Given the description of an element on the screen output the (x, y) to click on. 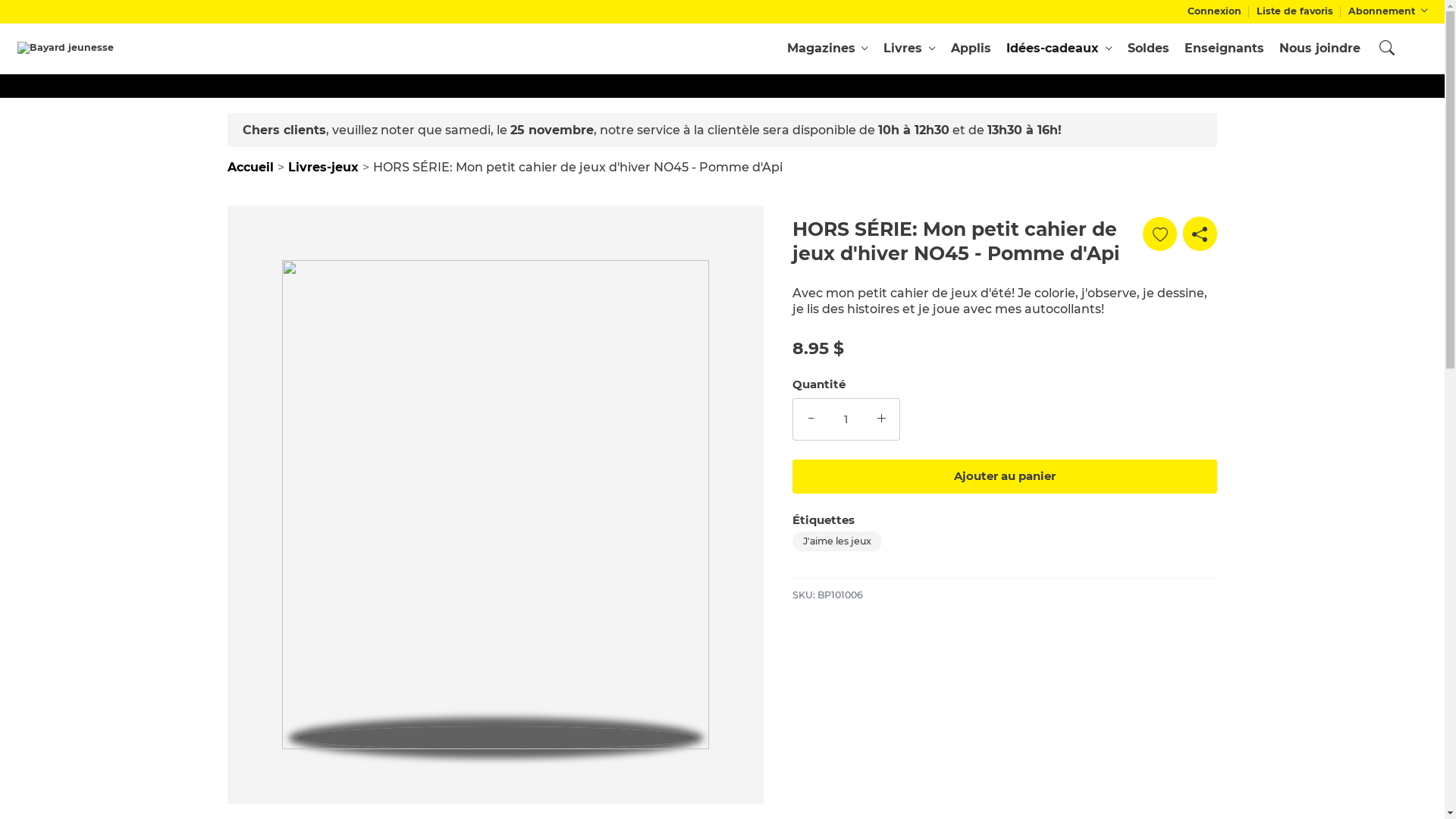
Applis Element type: text (970, 47)
J'aime les jeux Element type: text (836, 541)
Nous joindre Element type: text (1318, 47)
Liste de favoris Element type: text (1294, 11)
Abonnement Element type: text (1387, 11)
Livres Element type: text (909, 47)
Passer aux informations produits Element type: text (226, 204)
Livres-jeux Element type: text (323, 167)
Panier Element type: text (1416, 47)
Magazines Element type: text (827, 47)
Accueil Element type: text (250, 167)
Enseignants Element type: text (1223, 47)
Connexion Element type: text (1214, 11)
Soldes Element type: text (1147, 47)
Ajouter au panier Element type: text (1003, 476)
